Given the description of an element on the screen output the (x, y) to click on. 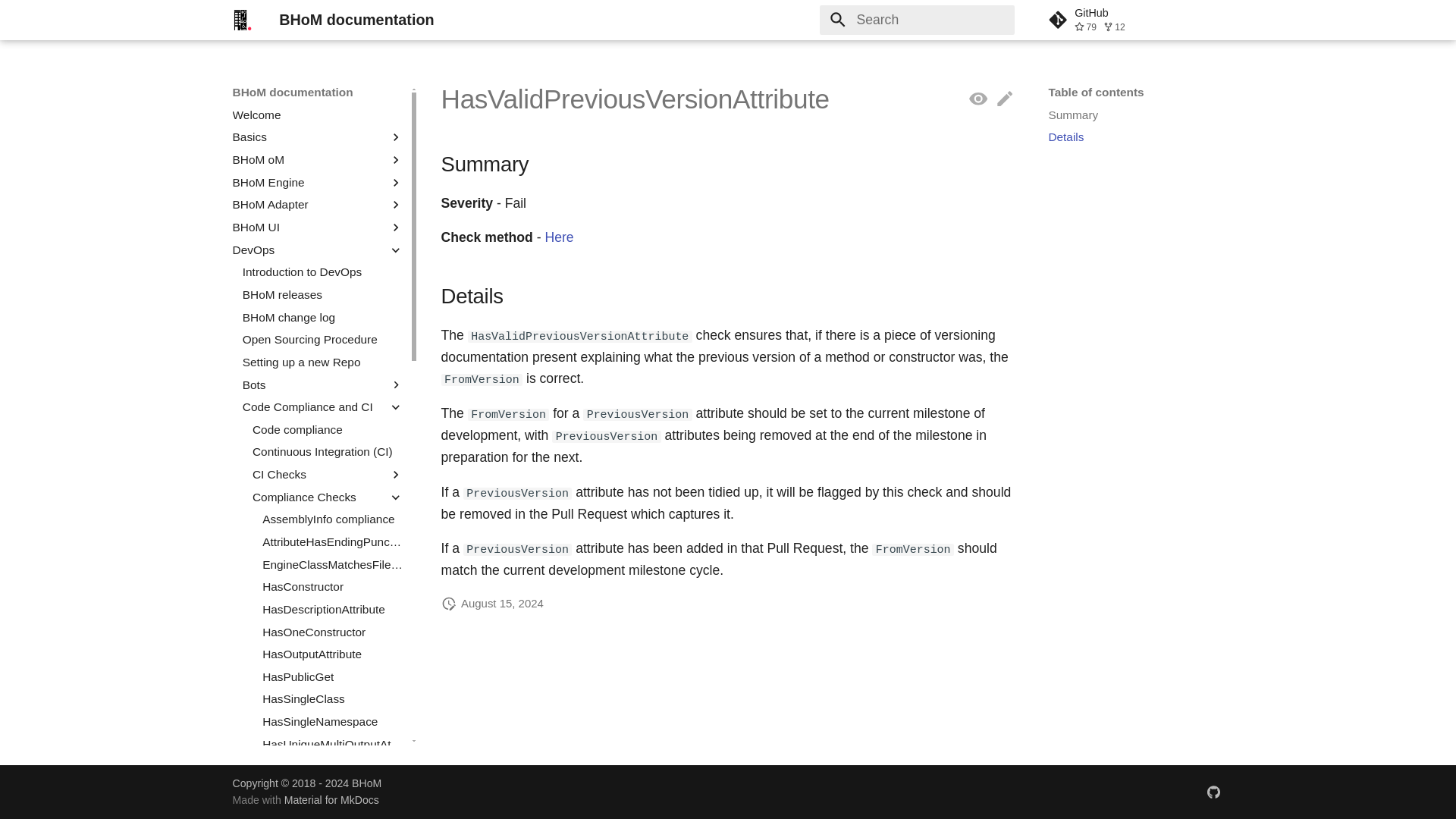
AttributeHasEndingPunctuation (332, 541)
Setting up a new Repo (323, 362)
BHoM documentation (242, 19)
Edit this page (1004, 98)
Go to repository (1135, 20)
BHoM change log (323, 317)
EngineClassMatchesFilePath (332, 564)
Code compliance (327, 429)
BHoM on Github (1213, 791)
Introduction to DevOps (323, 272)
